Given the description of an element on the screen output the (x, y) to click on. 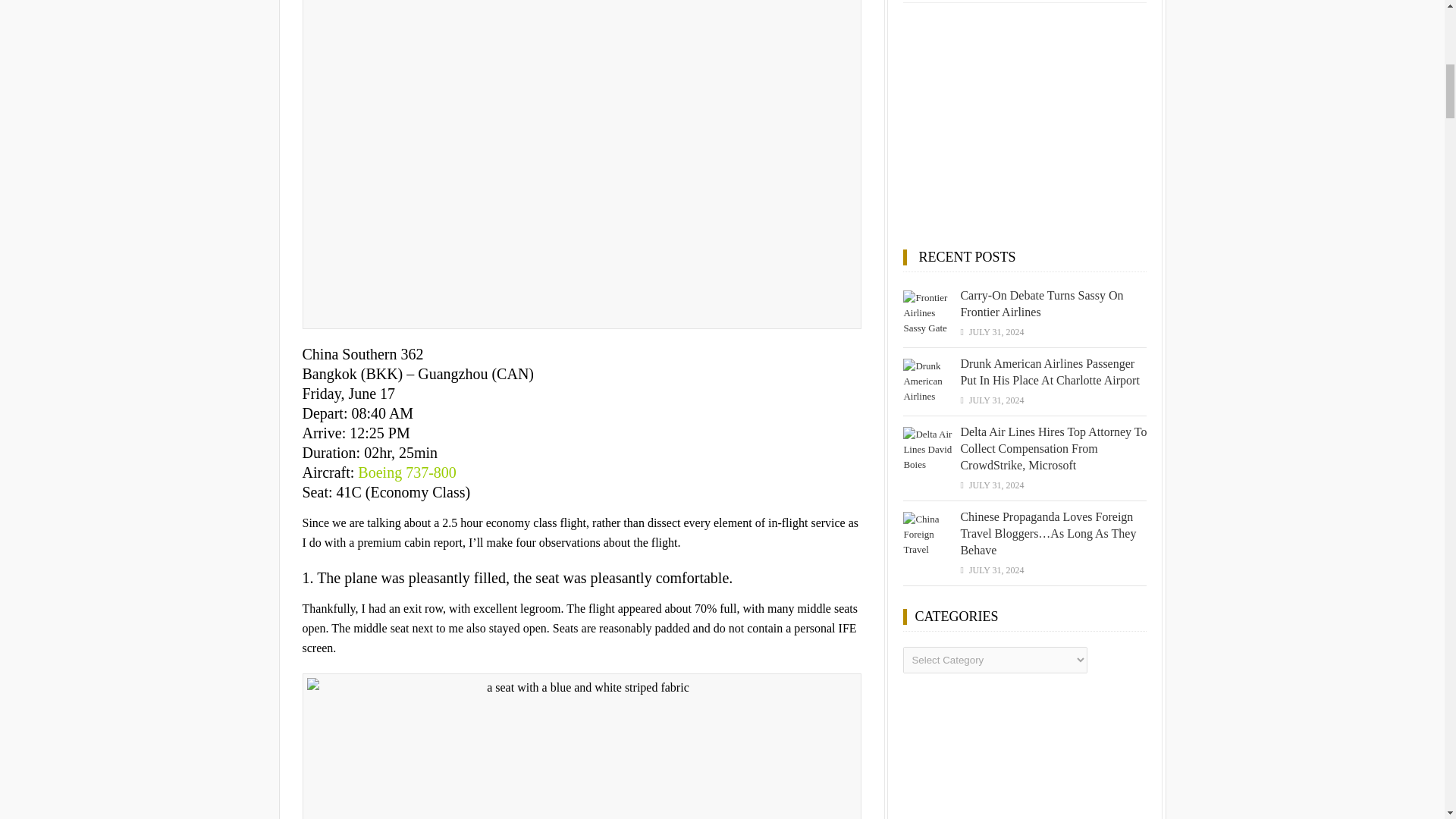
Boeing 737-800 (406, 472)
